Given the description of an element on the screen output the (x, y) to click on. 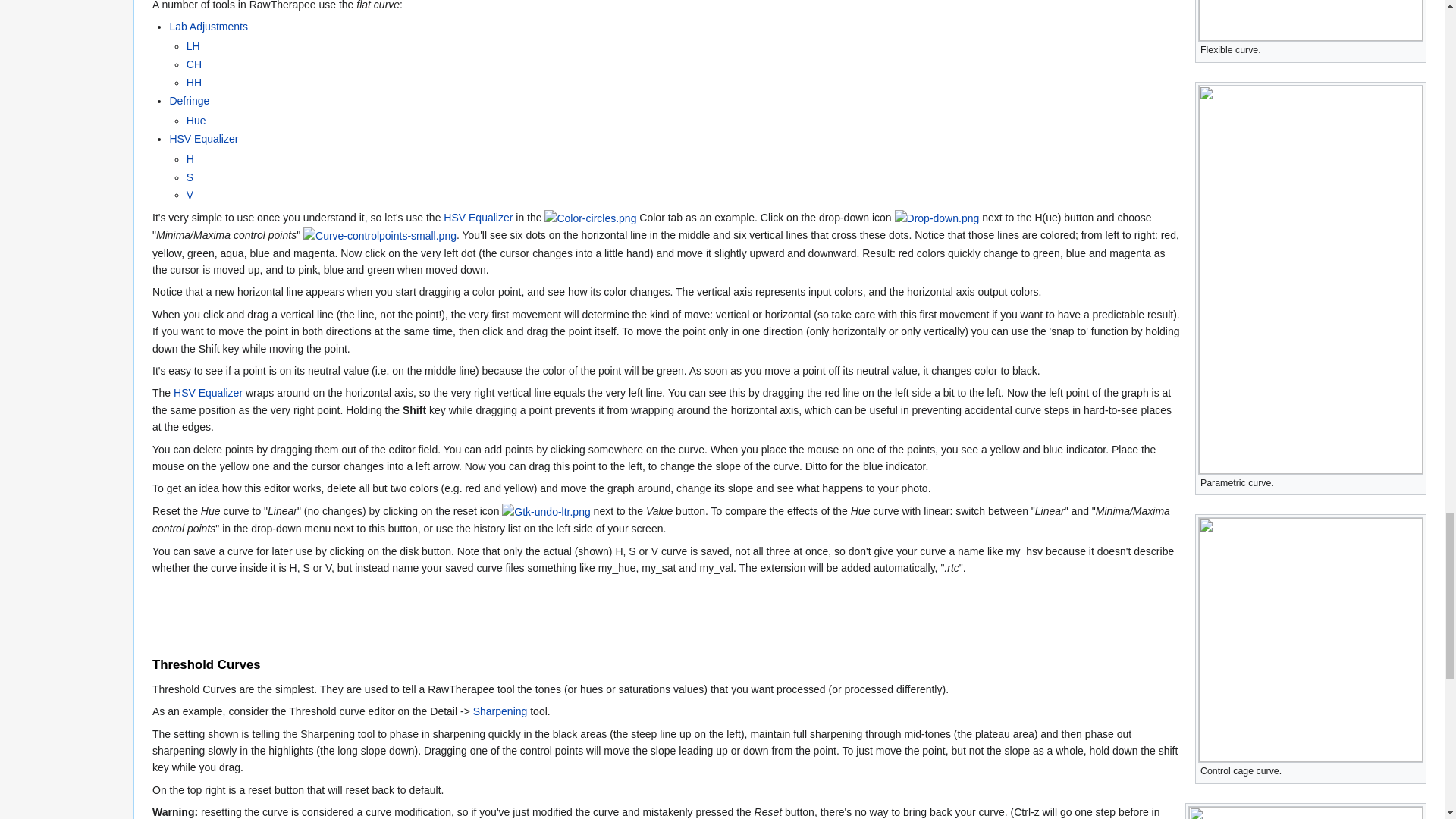
Defringe (188, 101)
Lab Adjustments (194, 82)
Lab Adjustments (193, 46)
Sharpening (500, 711)
HSV Equalizer (208, 392)
Lab Adjustments (207, 26)
Defringe (196, 120)
HSV Equalizer (478, 217)
Lab Adjustments (194, 64)
HSV Equalizer (203, 138)
